Given the description of an element on the screen output the (x, y) to click on. 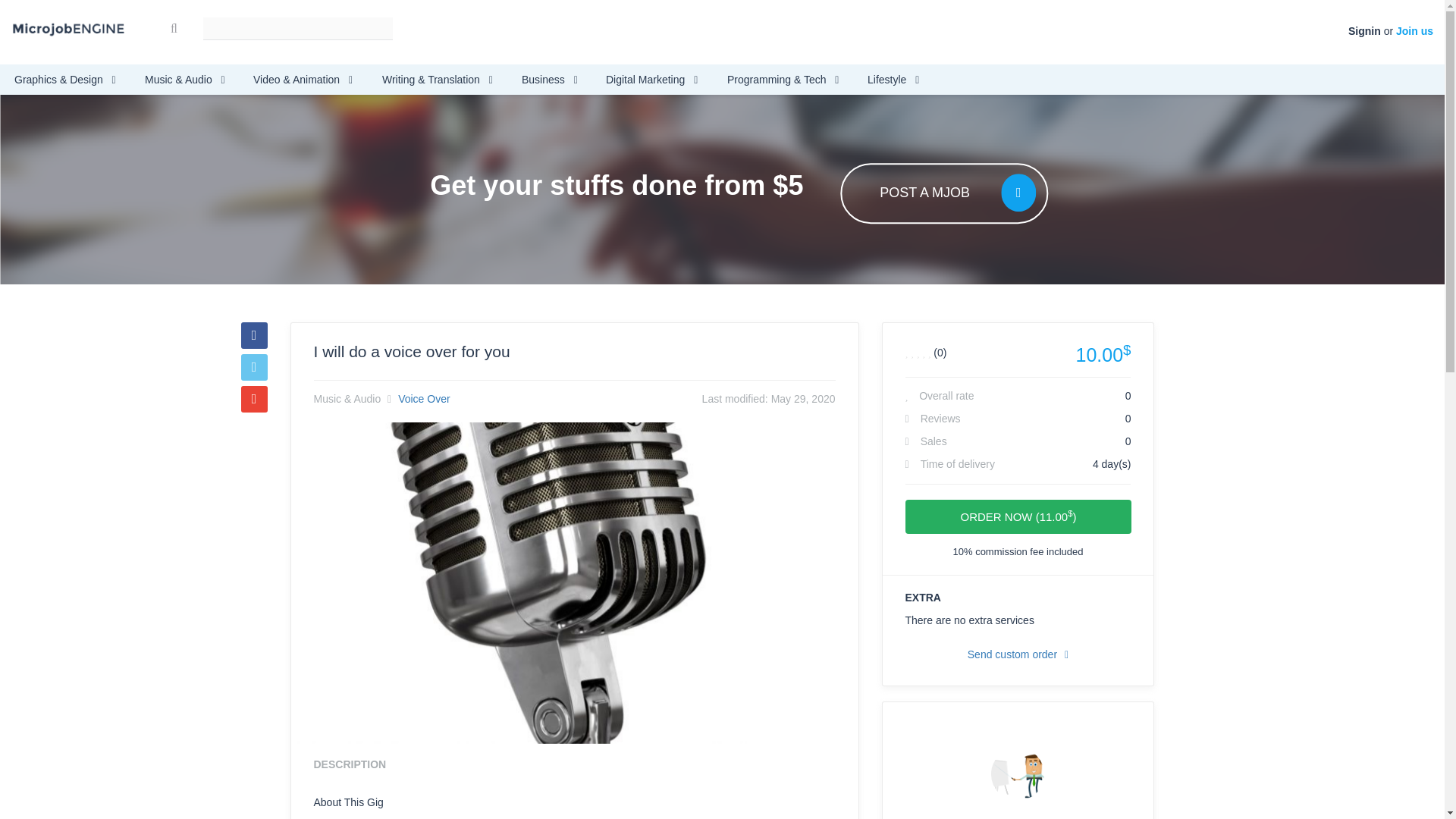
Signin (1364, 30)
Join us (1414, 30)
